Given the description of an element on the screen output the (x, y) to click on. 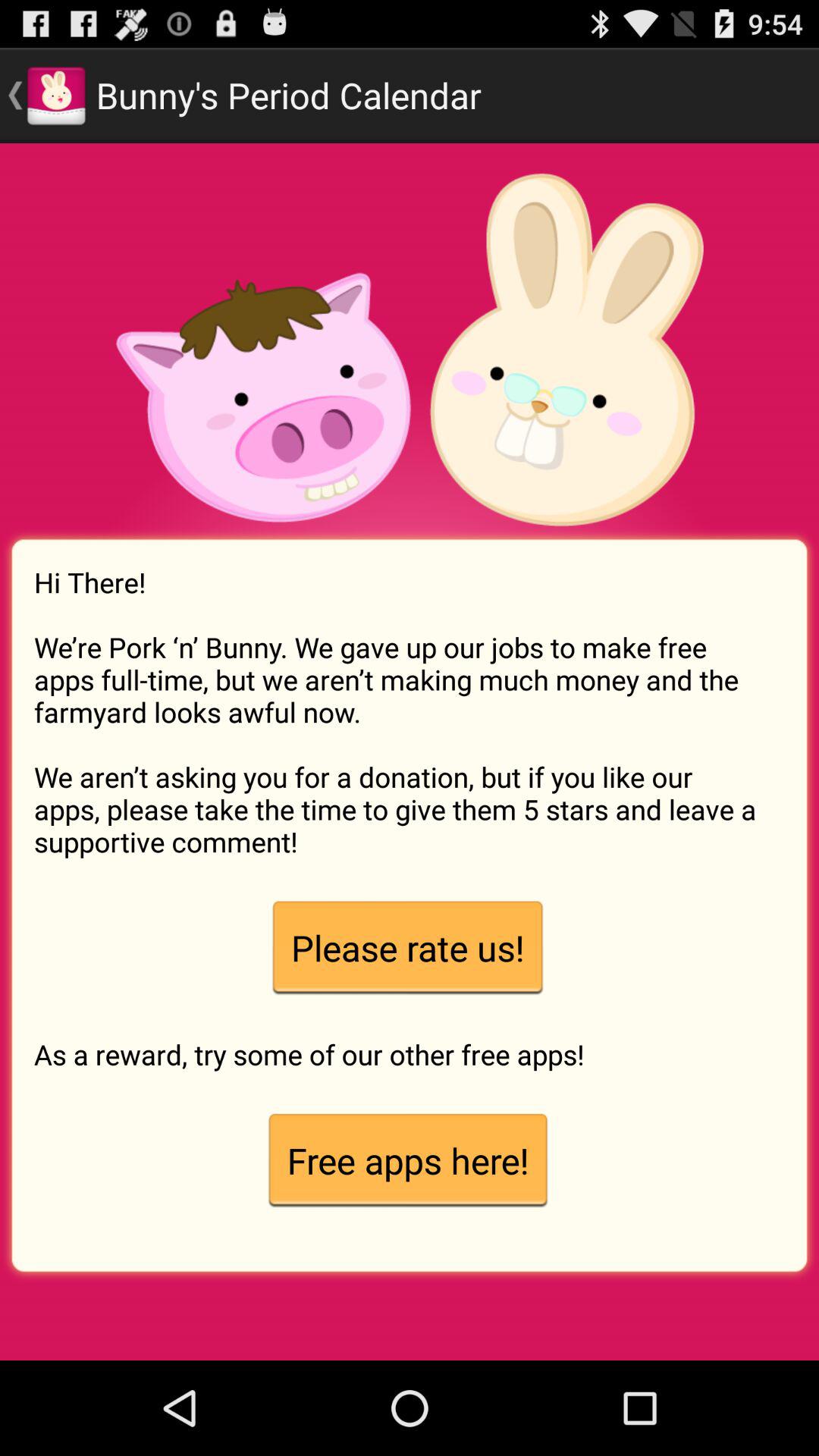
tap app above as a reward (407, 947)
